Given the description of an element on the screen output the (x, y) to click on. 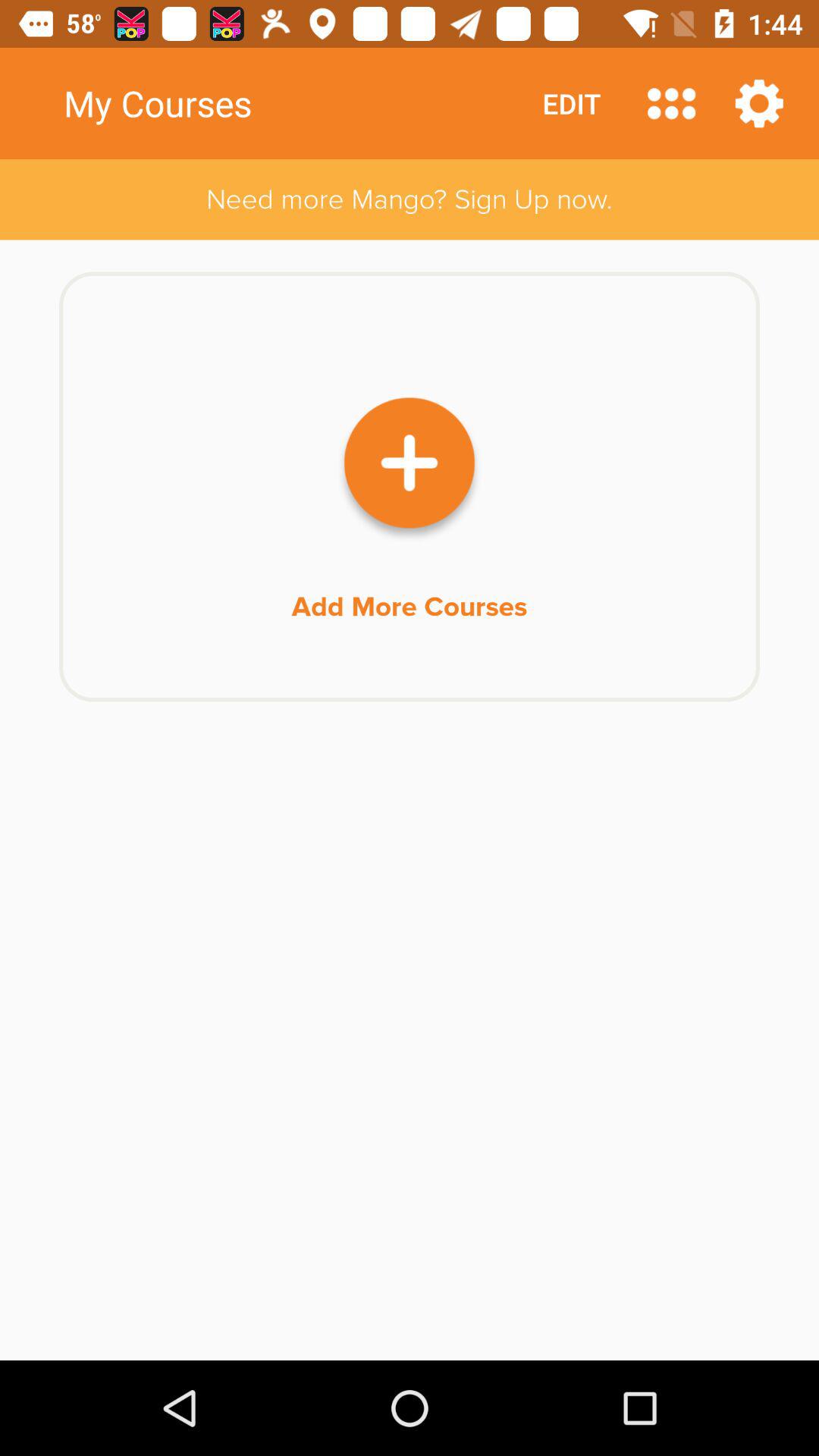
press icon next to my courses item (571, 103)
